Given the description of an element on the screen output the (x, y) to click on. 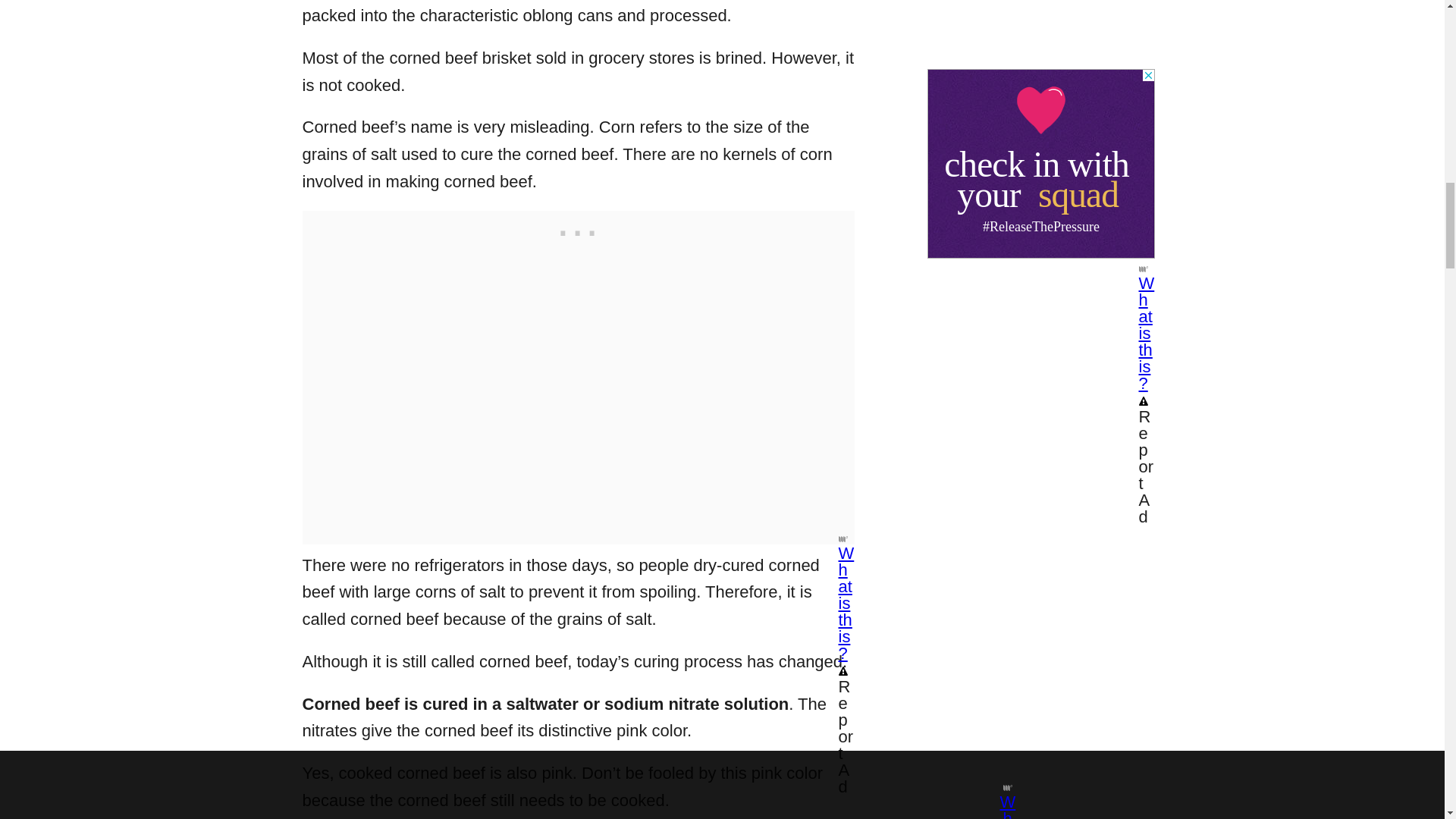
3rd party ad content (577, 229)
